Given the description of an element on the screen output the (x, y) to click on. 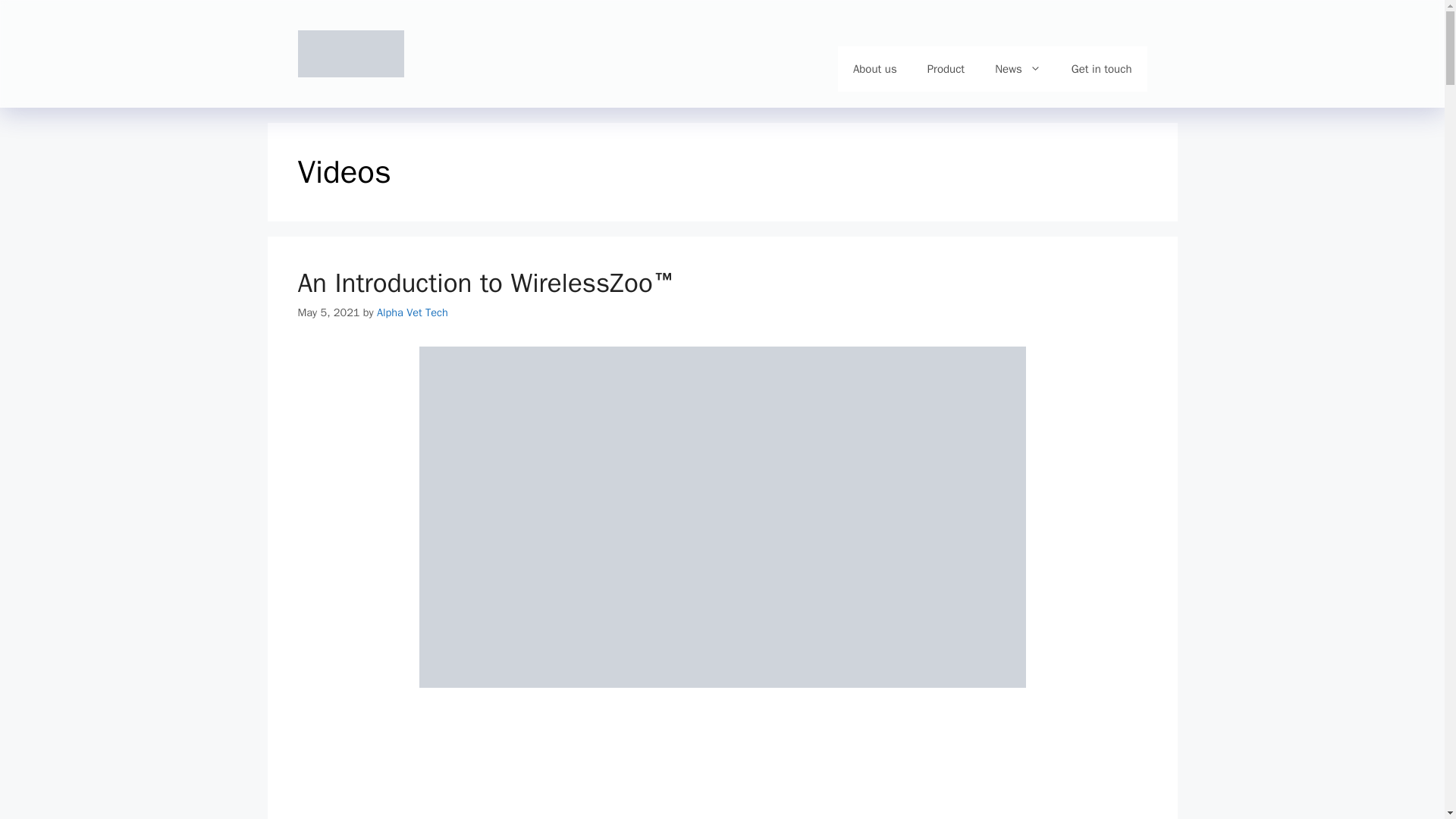
Alpha Vet Tech (350, 53)
Alpha Vet Tech (412, 312)
Alpha Vet Tech (350, 52)
About us (875, 68)
Get in touch (1102, 68)
News (1018, 68)
View all posts by Alpha Vet Tech (412, 312)
Product (945, 68)
